Given the description of an element on the screen output the (x, y) to click on. 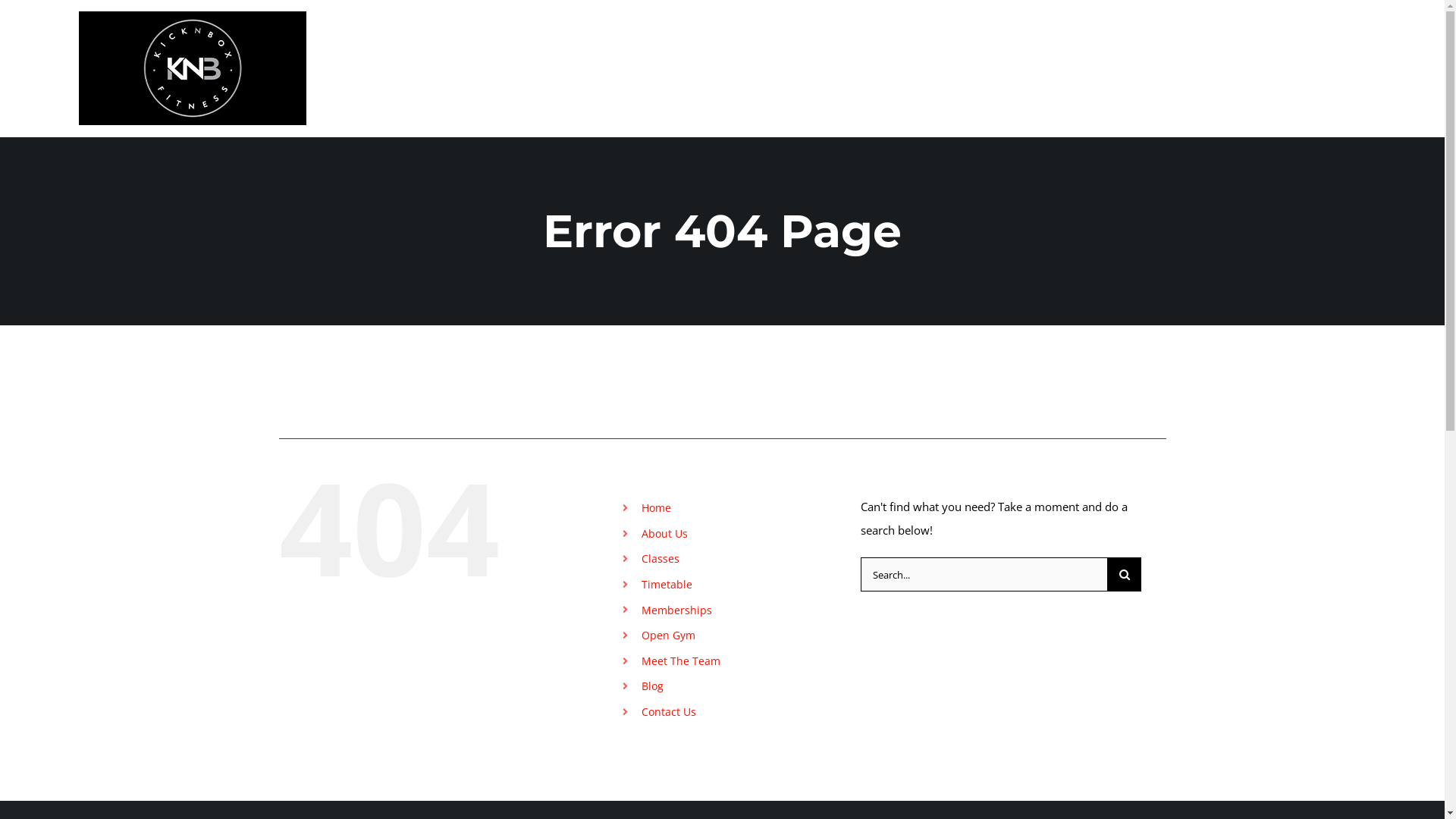
Blog Element type: text (652, 685)
Classes Element type: text (839, 56)
Contact Us Element type: text (668, 711)
Open Gym Element type: text (1082, 56)
Timetable Element type: text (907, 56)
About Us Element type: text (664, 533)
Open Gym Element type: text (668, 634)
Memberships Element type: text (993, 56)
Meet The Team Element type: text (680, 660)
Timetable Element type: text (666, 584)
Home Element type: text (710, 56)
Memberships Element type: text (676, 609)
About Us Element type: text (773, 56)
Contact Us Element type: text (1315, 56)
Blog Element type: text (1252, 56)
Classes Element type: text (660, 558)
Home Element type: text (656, 507)
Meet The Team Element type: text (1176, 56)
